Given the description of an element on the screen output the (x, y) to click on. 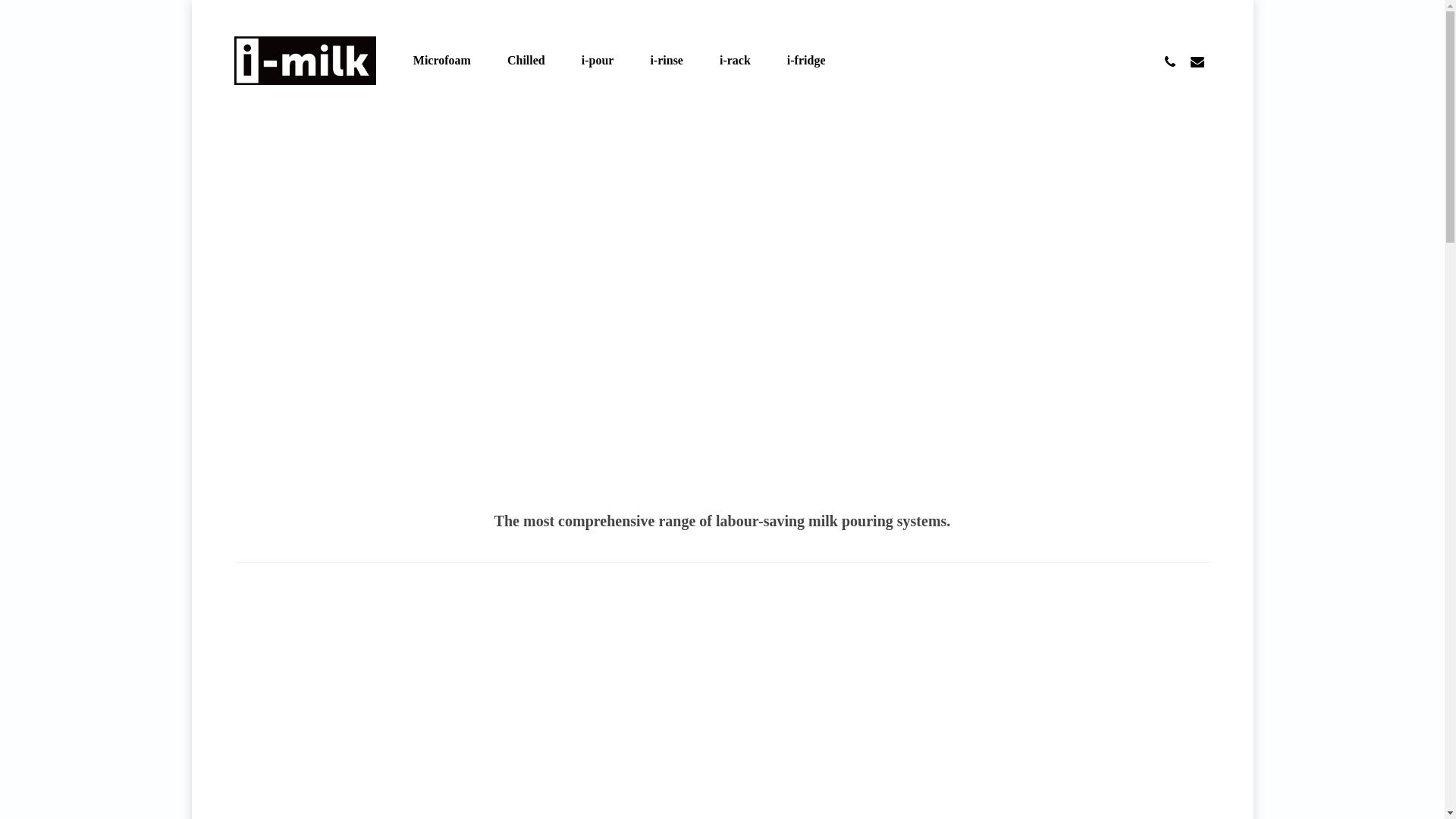
youtube Element type: text (1174, 793)
email Element type: text (1196, 60)
Microfoam Element type: text (441, 60)
i-fridge Element type: text (806, 60)
Chilled Element type: text (526, 60)
blog articles Element type: text (337, 794)
i-pour Element type: text (597, 60)
SEE PHOTO GALLERY Element type: text (818, 717)
i-rack Element type: text (734, 60)
web design by koda. Element type: text (414, 794)
i-rinse Element type: text (666, 60)
instagram Element type: text (1203, 793)
facebook Element type: text (1147, 793)
phone Element type: text (1169, 60)
